Given the description of an element on the screen output the (x, y) to click on. 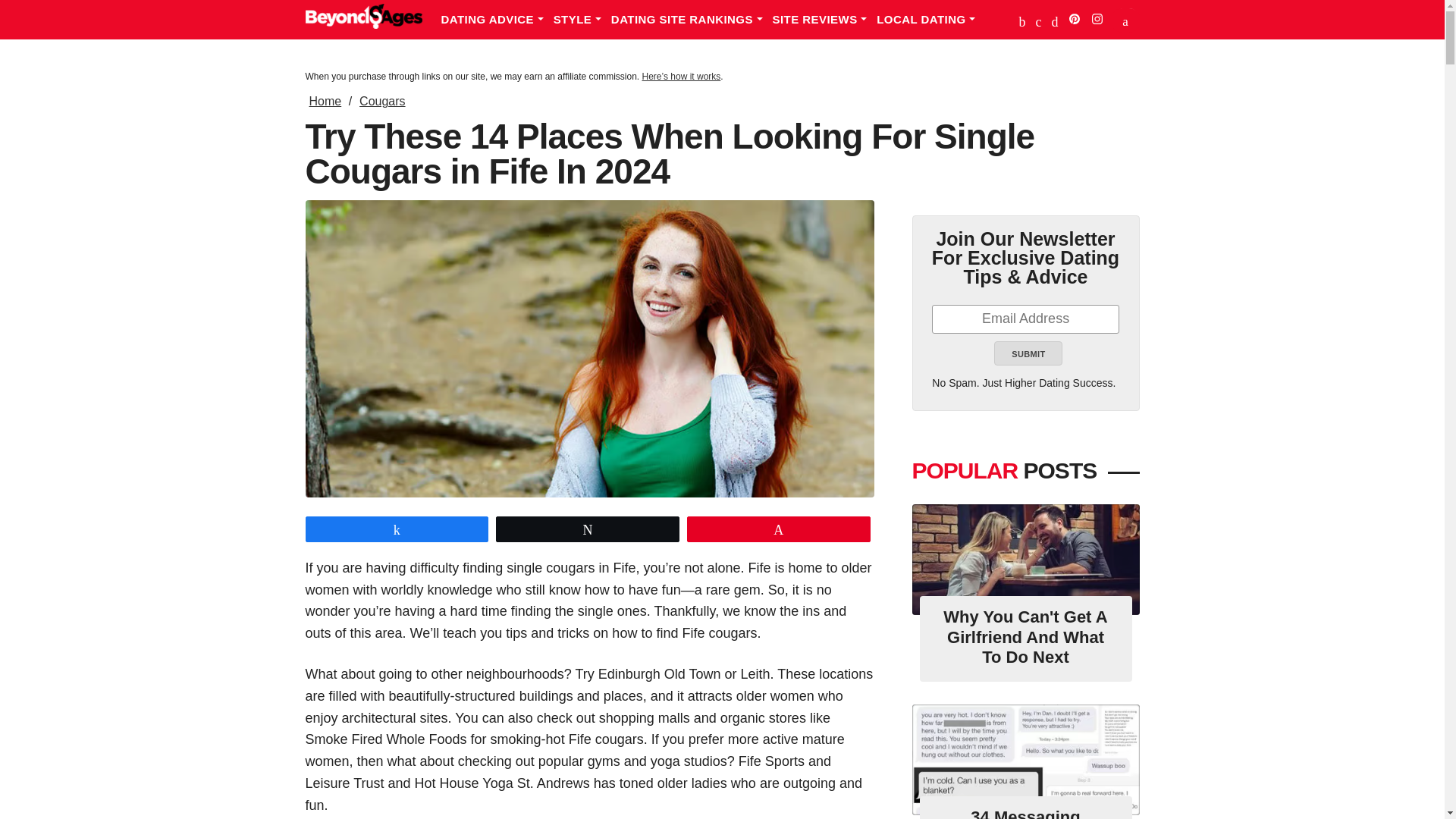
Style (582, 19)
Submit (1028, 353)
Dating Site Rankings (692, 19)
Instagram icon (1097, 18)
SITE REVIEWS (825, 19)
Pinterest icon (1074, 18)
Dating Advice (497, 19)
LOCAL DATING (930, 19)
Site Reviews (825, 19)
STYLE (582, 19)
